Given the description of an element on the screen output the (x, y) to click on. 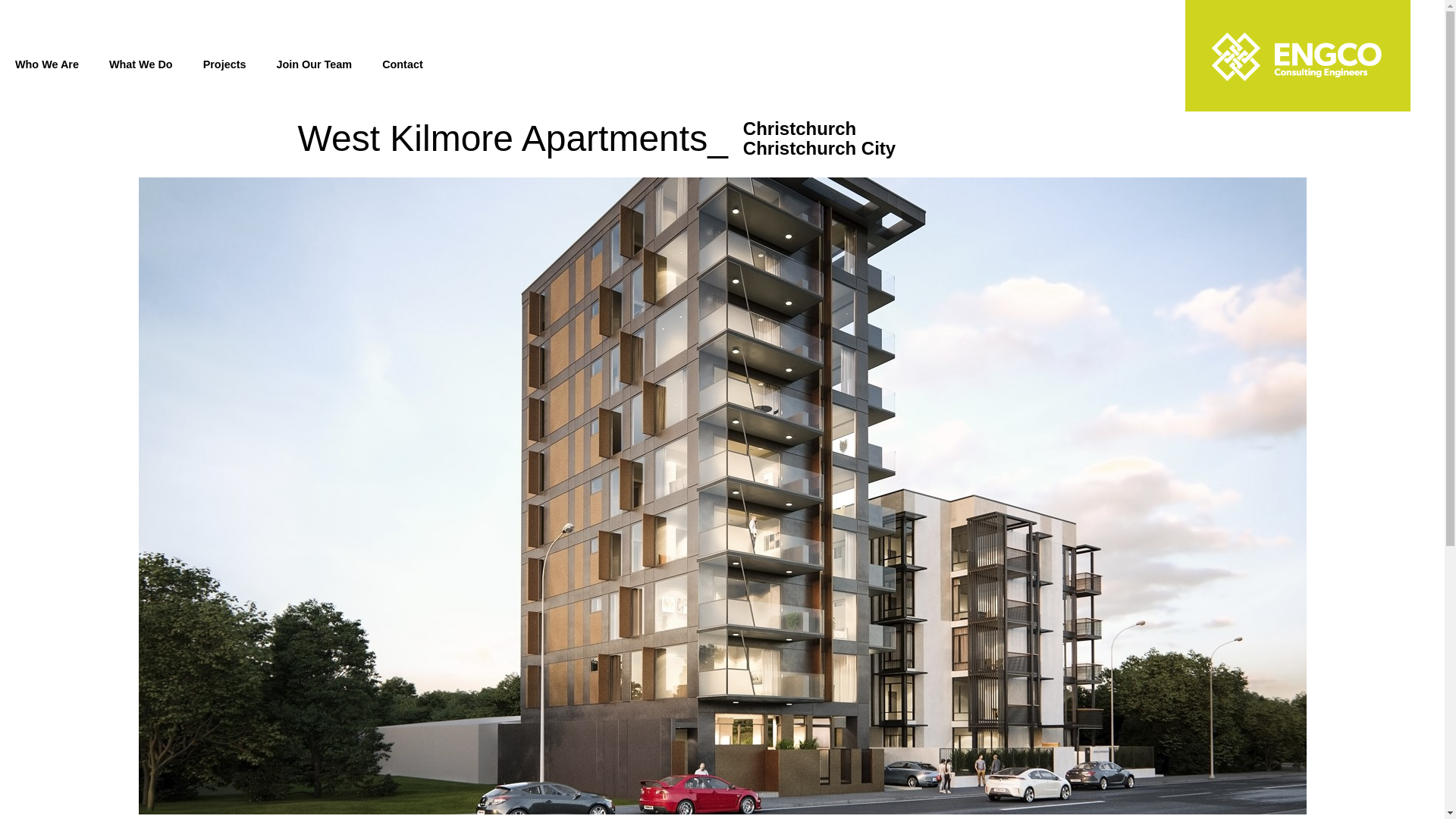
Projects (224, 64)
What We Do (140, 64)
Join Our Team (313, 64)
Who We Are (47, 64)
Contact (402, 64)
